Given the description of an element on the screen output the (x, y) to click on. 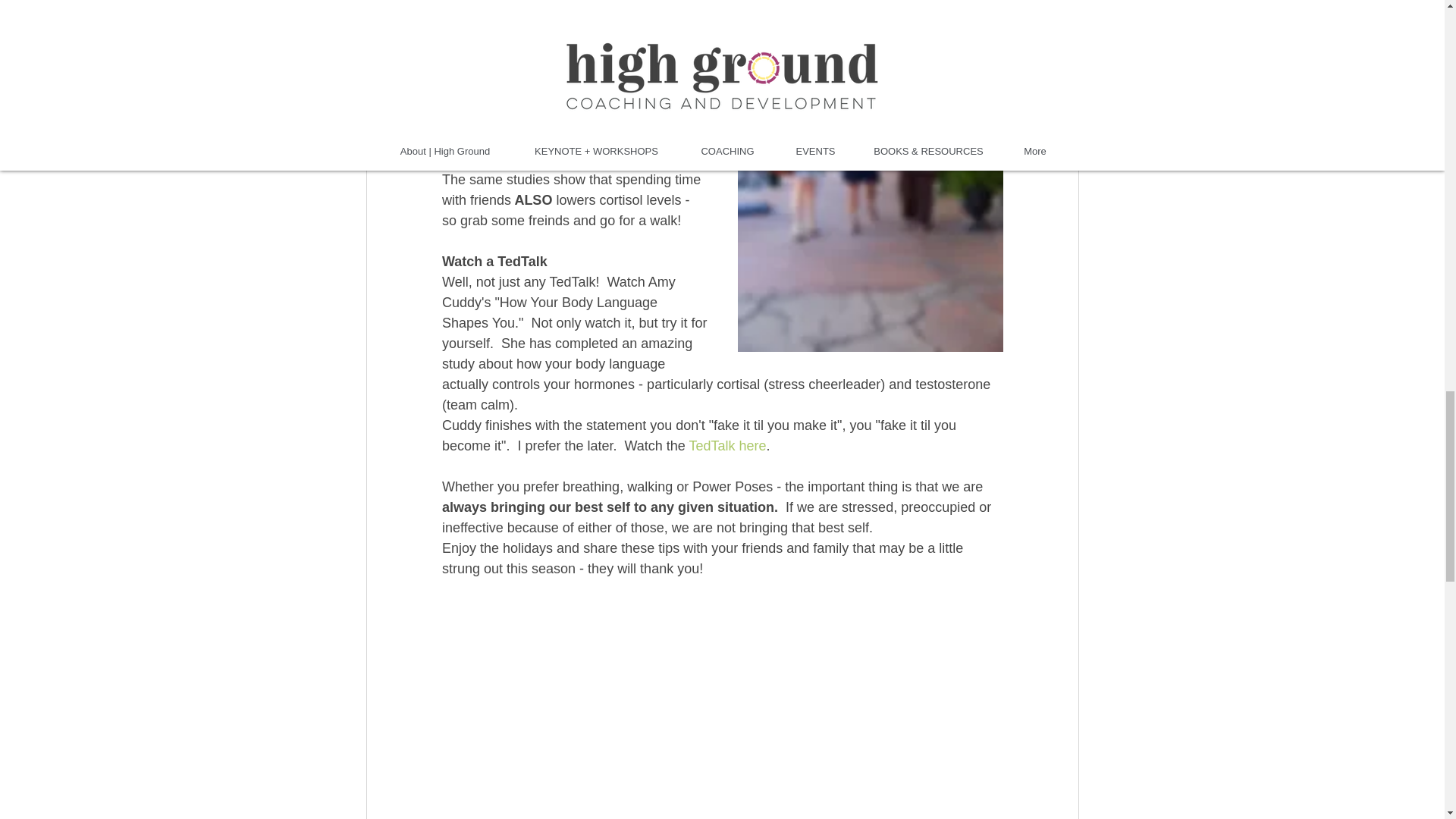
TedTalk here (726, 445)
